Given the description of an element on the screen output the (x, y) to click on. 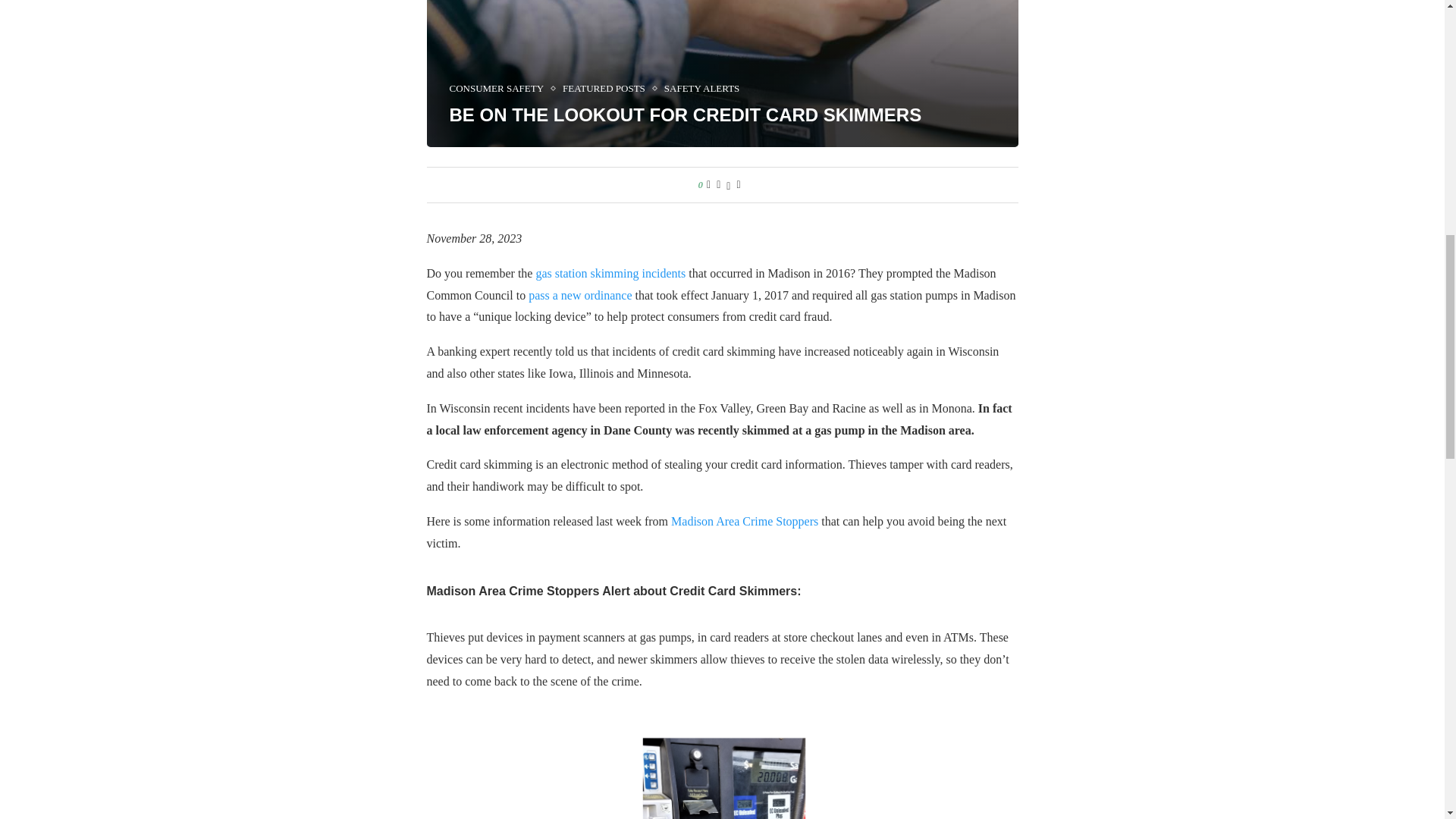
Madison Area Crime Stoppers (744, 521)
FEATURED POSTS (607, 88)
pass a new ordinance (579, 295)
gas station skimming incidents (610, 273)
SAFETY ALERTS (701, 88)
CONSUMER SAFETY (499, 88)
